Given the description of an element on the screen output the (x, y) to click on. 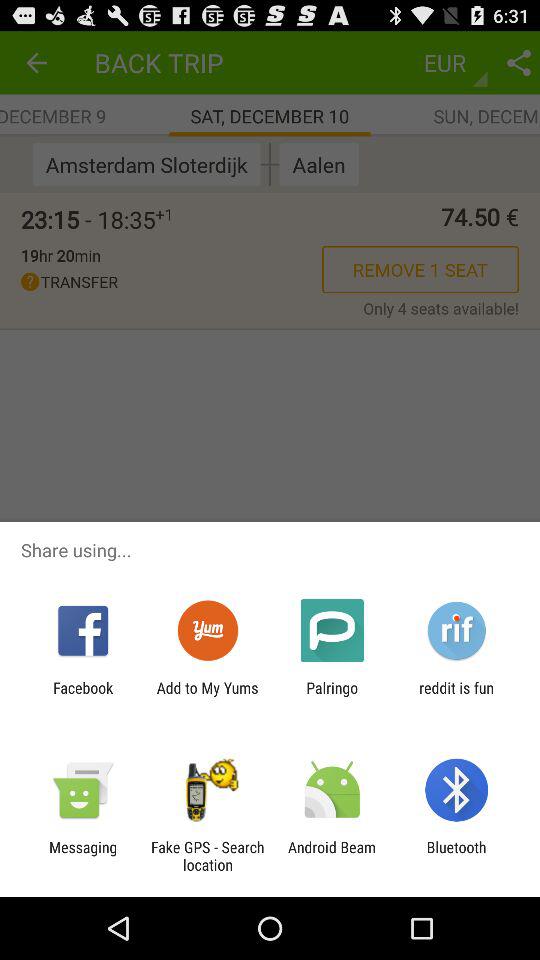
swipe until messaging (83, 856)
